Given the description of an element on the screen output the (x, y) to click on. 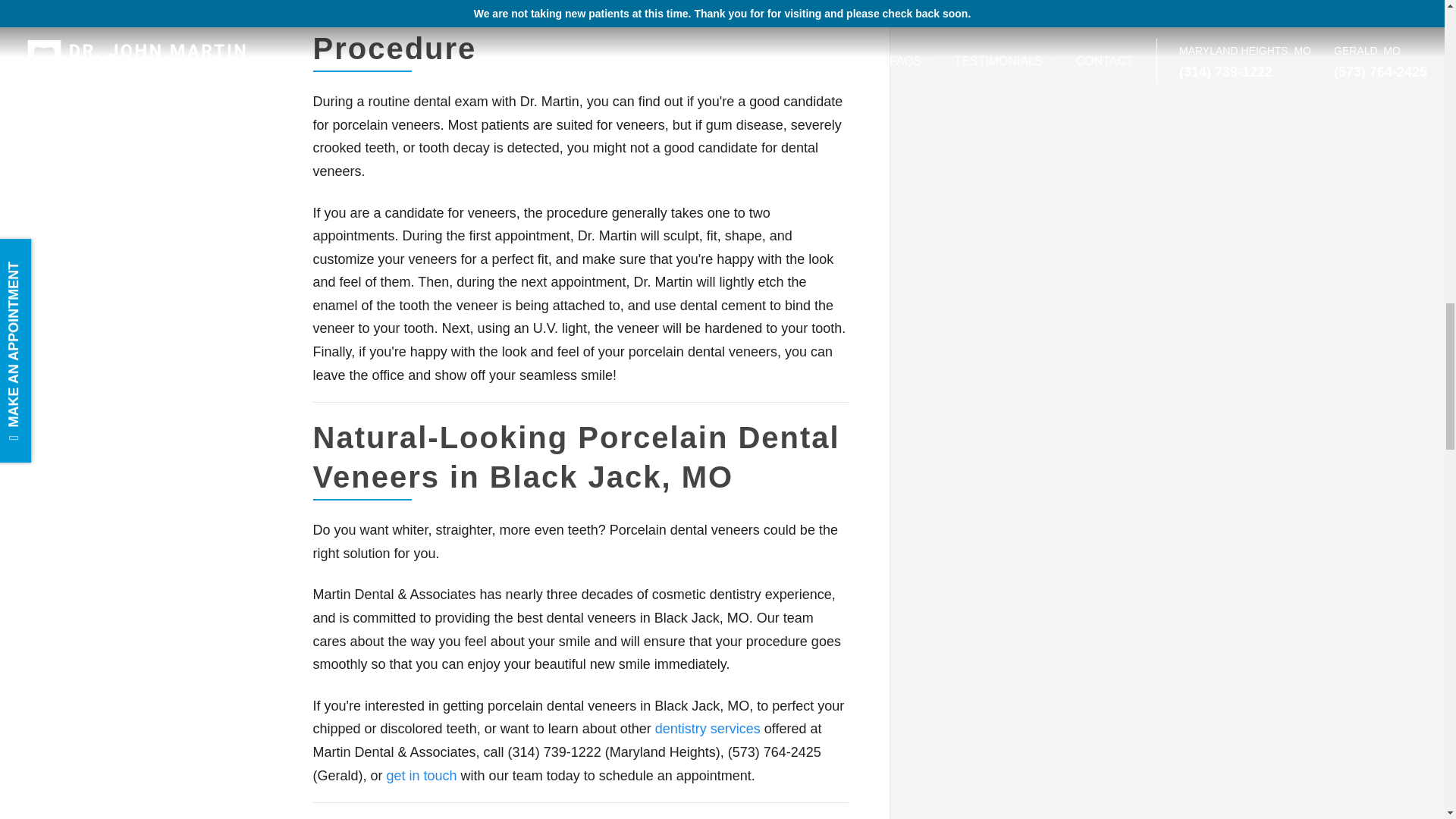
dentistry services (707, 728)
get in touch (422, 775)
